Given the description of an element on the screen output the (x, y) to click on. 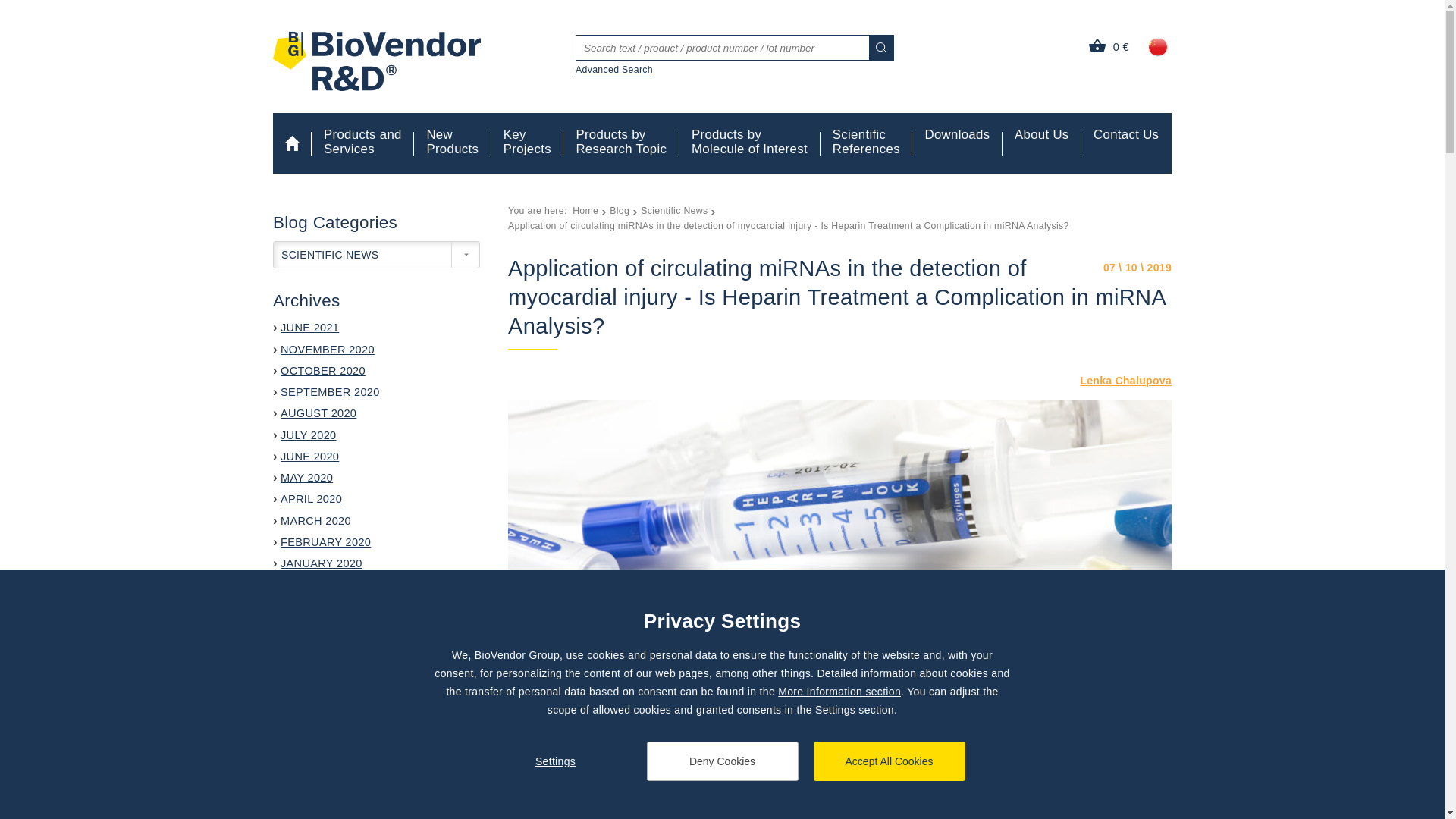
Go to New Products (451, 142)
Blog (625, 211)
Go to About Us (1042, 135)
Go to Key Projects (527, 142)
Go to Scientific References (527, 142)
Contact Us (866, 142)
Advanced Search (1125, 135)
